Given the description of an element on the screen output the (x, y) to click on. 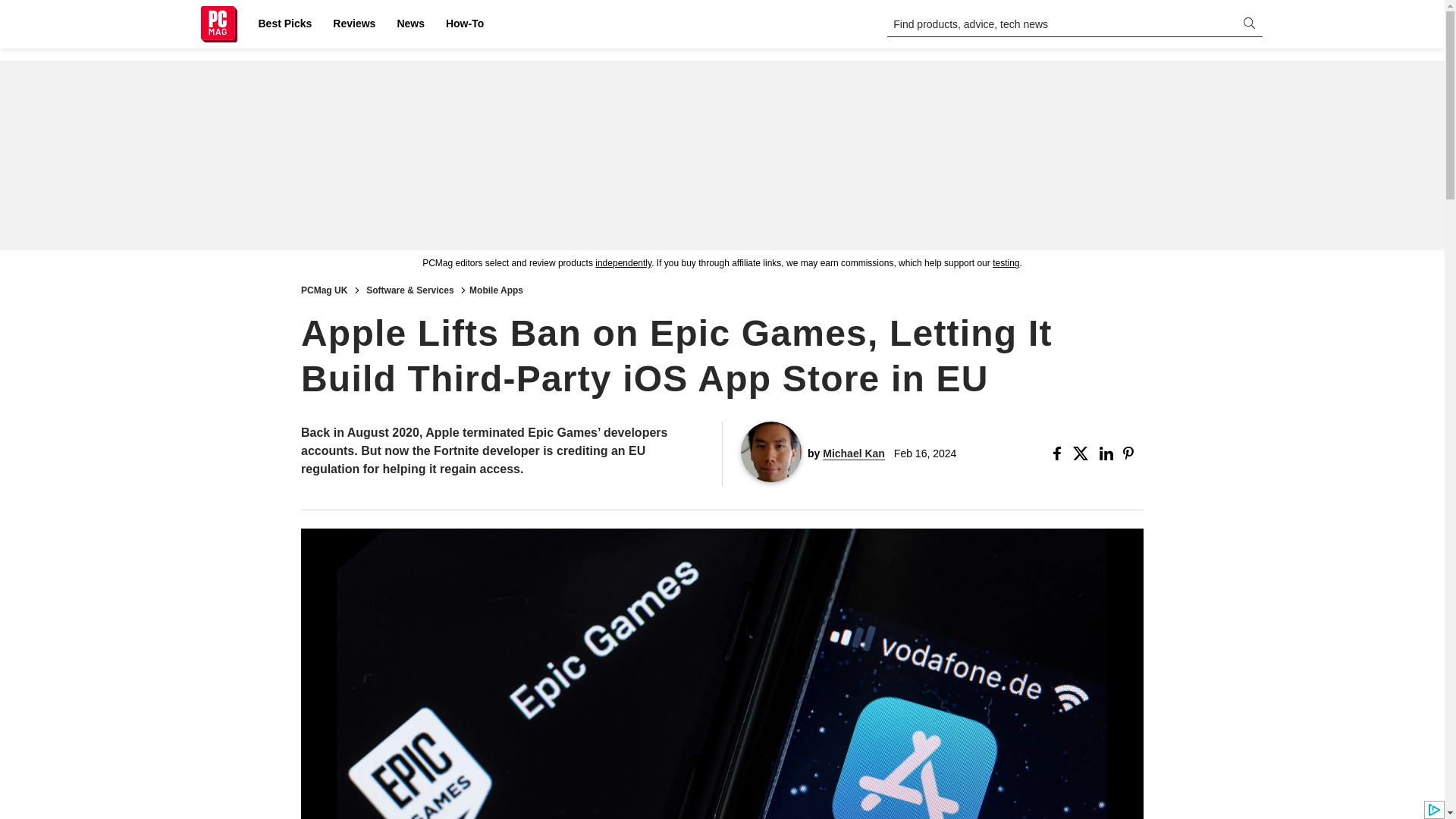
Best Picks (284, 24)
Share this Story on Facebook (1059, 453)
Share this Story on X (1083, 453)
Share this Story on Linkedin (1107, 453)
Share this Story on Pinterest (1132, 453)
